Given the description of an element on the screen output the (x, y) to click on. 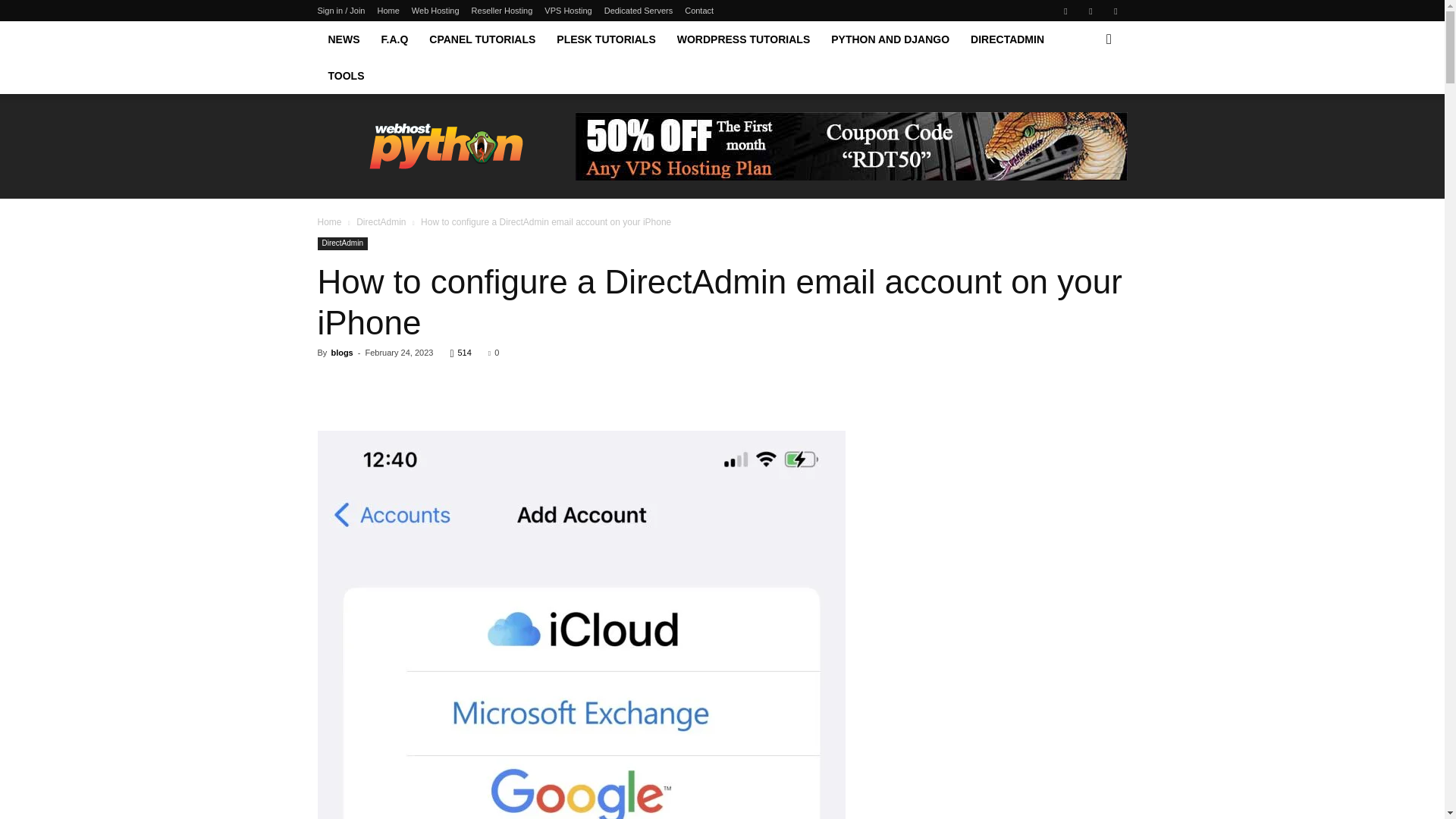
Home (387, 10)
View all posts in DirectAdmin (381, 222)
Contact (698, 10)
Facebook (1065, 10)
Web Hosting (436, 10)
VPS Hosting (567, 10)
Mail (1090, 10)
Twitter (1114, 10)
Dedicated Servers (638, 10)
Reseller Hosting (501, 10)
